Given the description of an element on the screen output the (x, y) to click on. 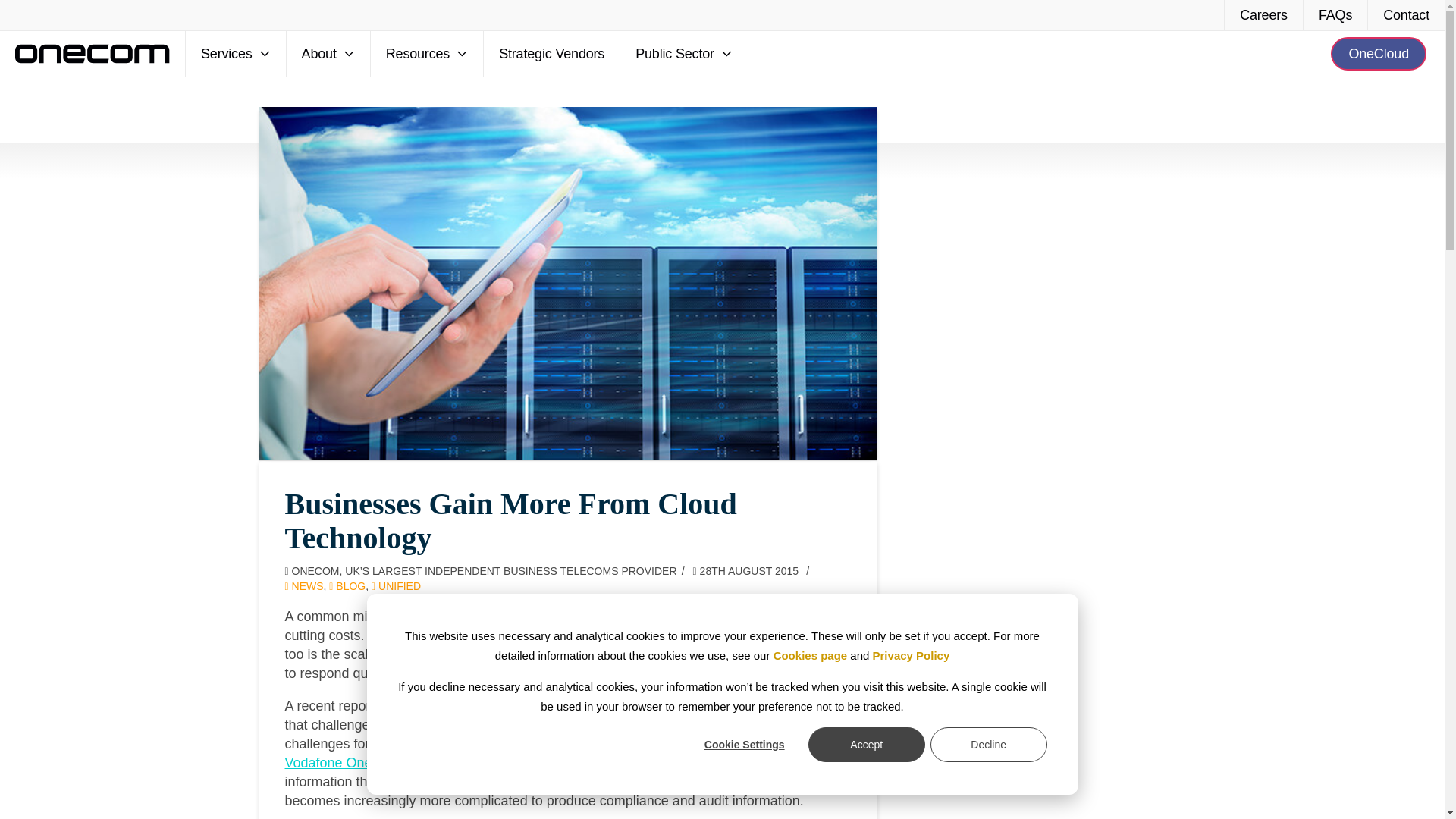
FAQs (1335, 15)
Cloud (711, 724)
Onecom One Net (341, 762)
Cloud (426, 724)
Cloud (555, 654)
Services (236, 53)
OneCloud (1378, 53)
Cloud (632, 616)
Careers (1263, 15)
